Given the description of an element on the screen output the (x, y) to click on. 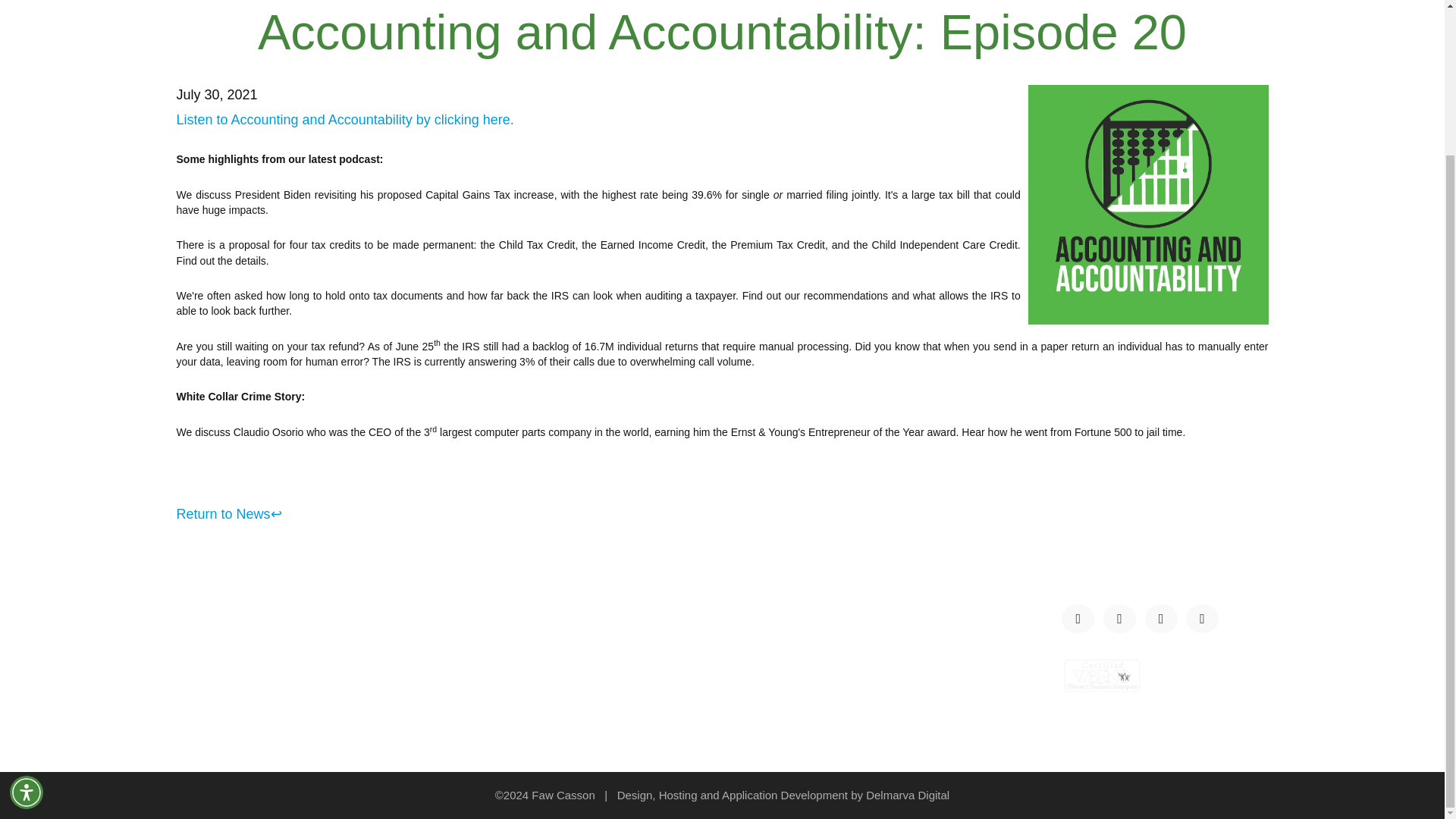
COMMUNITY (218, 696)
HOME (196, 616)
TESTIMONIALS (226, 676)
Accessibility Menu (26, 611)
HELPFUL LINKS (506, 696)
IMPORTANT DATES (518, 676)
OUR TEAM (211, 656)
Listen to Accounting and Accountability by clicking here.  (346, 119)
COMPANY (210, 636)
EXPERTISE (492, 636)
WE BELONG TO AGN (523, 616)
RECENT NEWS (505, 656)
